Given the description of an element on the screen output the (x, y) to click on. 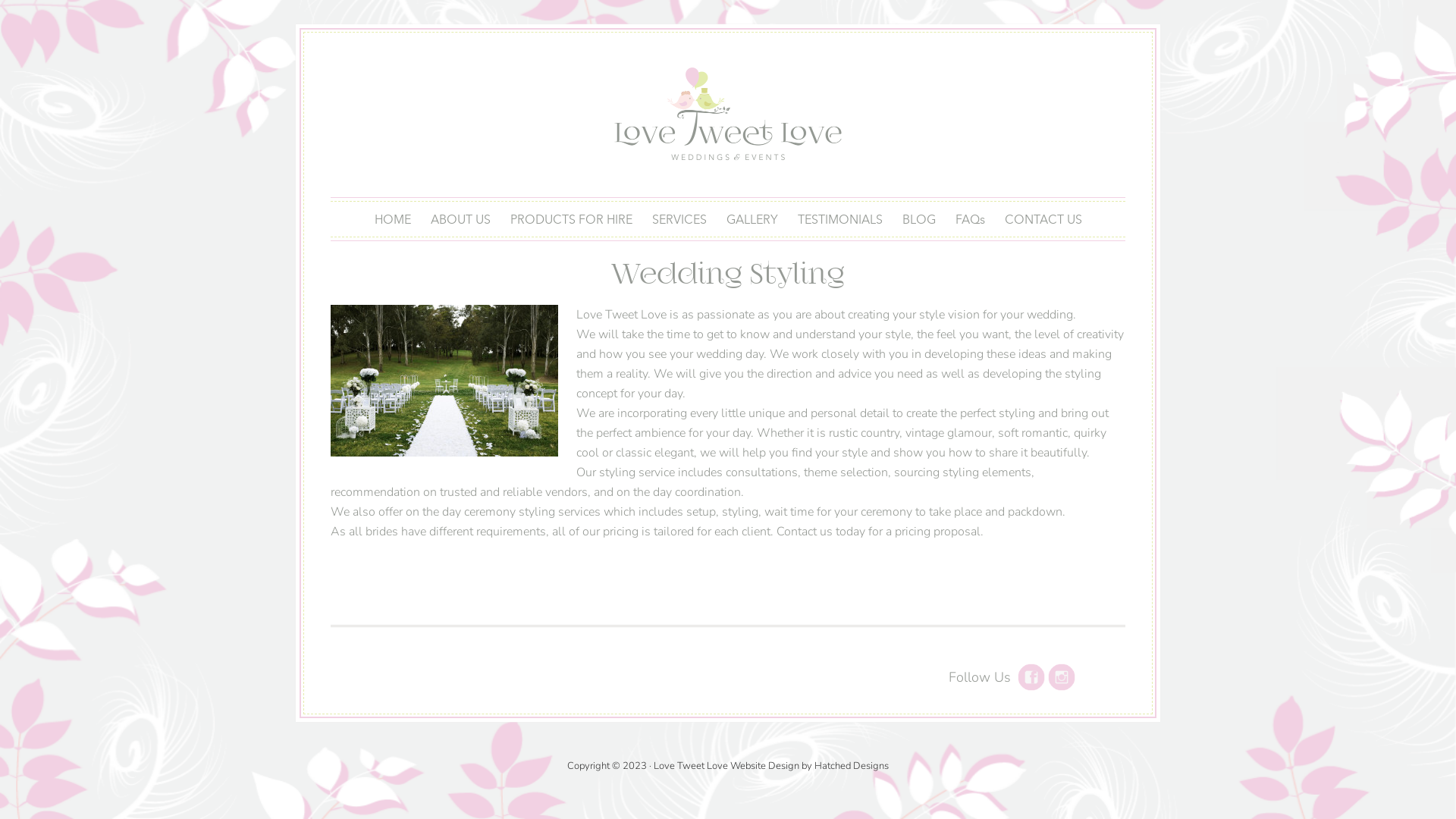
Hatched Designs Element type: text (851, 765)
SERVICES Element type: text (678, 218)
GALLERY Element type: text (751, 218)
love tweet love Element type: text (728, 116)
FAQs Element type: text (969, 218)
CONTACT US Element type: text (1043, 218)
BLOG Element type: text (918, 218)
HOME Element type: text (391, 218)
Love Tweet Love Element type: text (690, 765)
TESTIMONIALS Element type: text (839, 218)
ABOUT US Element type: text (459, 218)
PRODUCTS FOR HIRE Element type: text (571, 218)
